Given the description of an element on the screen output the (x, y) to click on. 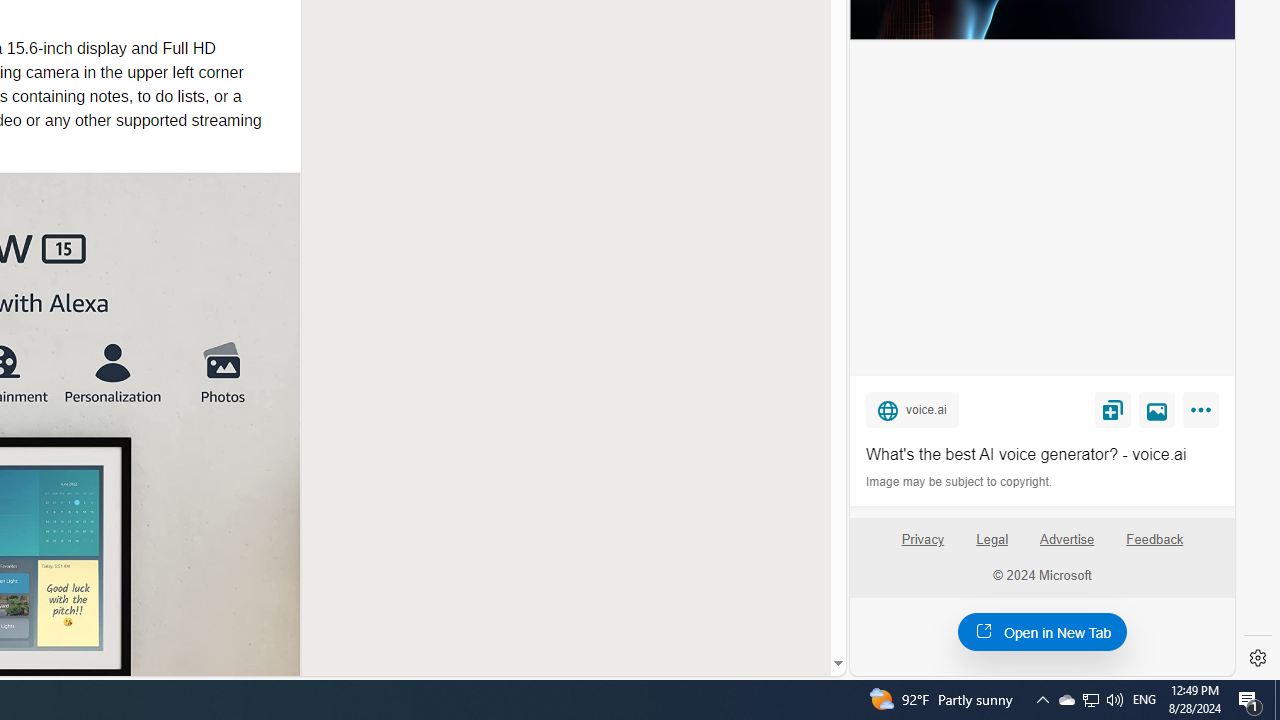
Open in New Tab (1042, 631)
Privacy (922, 547)
Legal (991, 539)
